Given the description of an element on the screen output the (x, y) to click on. 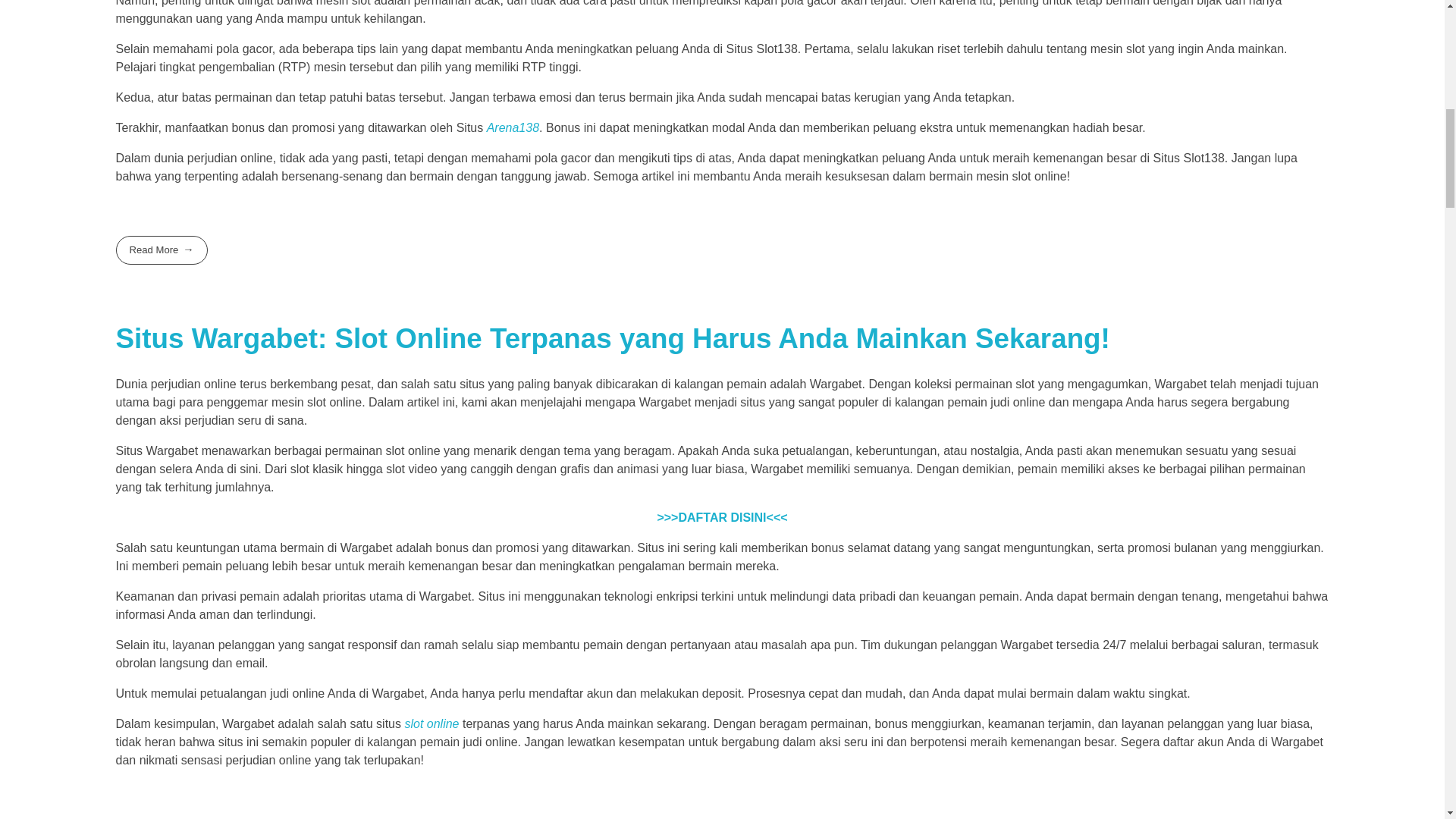
slot online (431, 723)
Arena138 (512, 127)
Read More (160, 249)
